Given the description of an element on the screen output the (x, y) to click on. 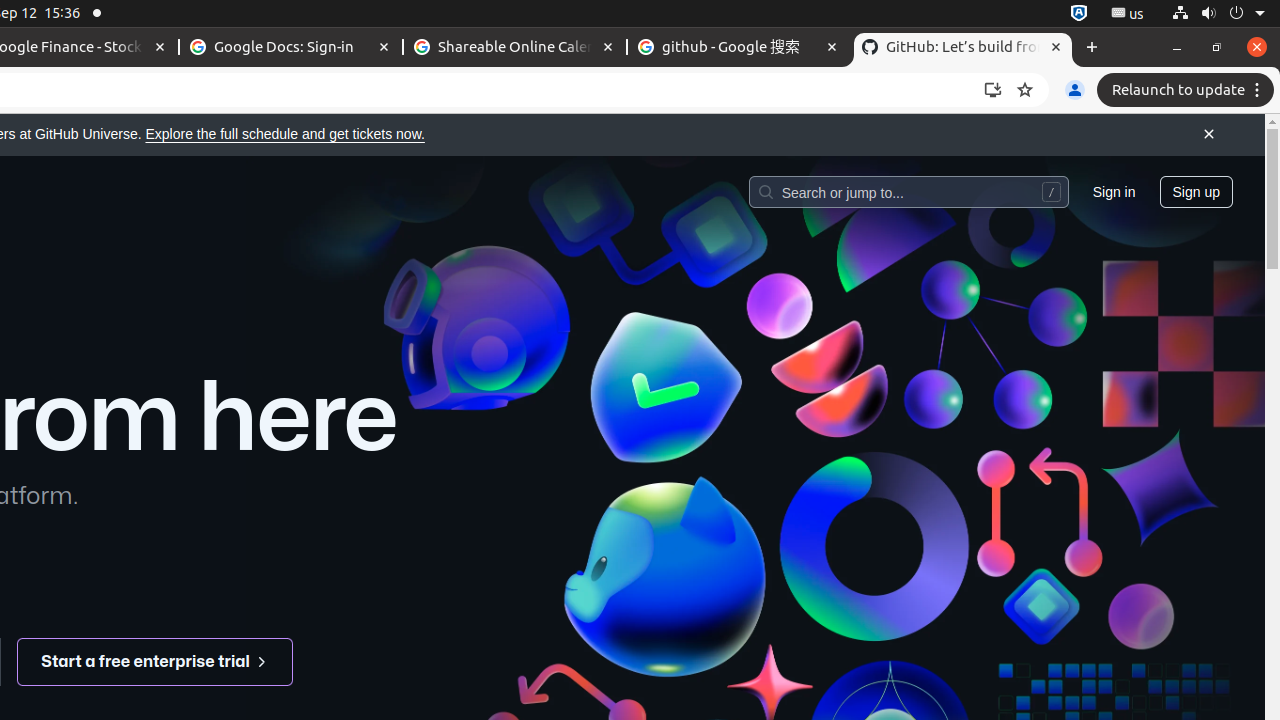
Google Docs: Sign-in - Memory usage - 31.9 MB Element type: page-tab (291, 47)
Search or jump to… Element type: push-button (908, 191)
:1.72/StatusNotifierItem Element type: menu (1079, 13)
Close Element type: push-button (1209, 135)
Install GitHub Element type: push-button (993, 90)
